Given the description of an element on the screen output the (x, y) to click on. 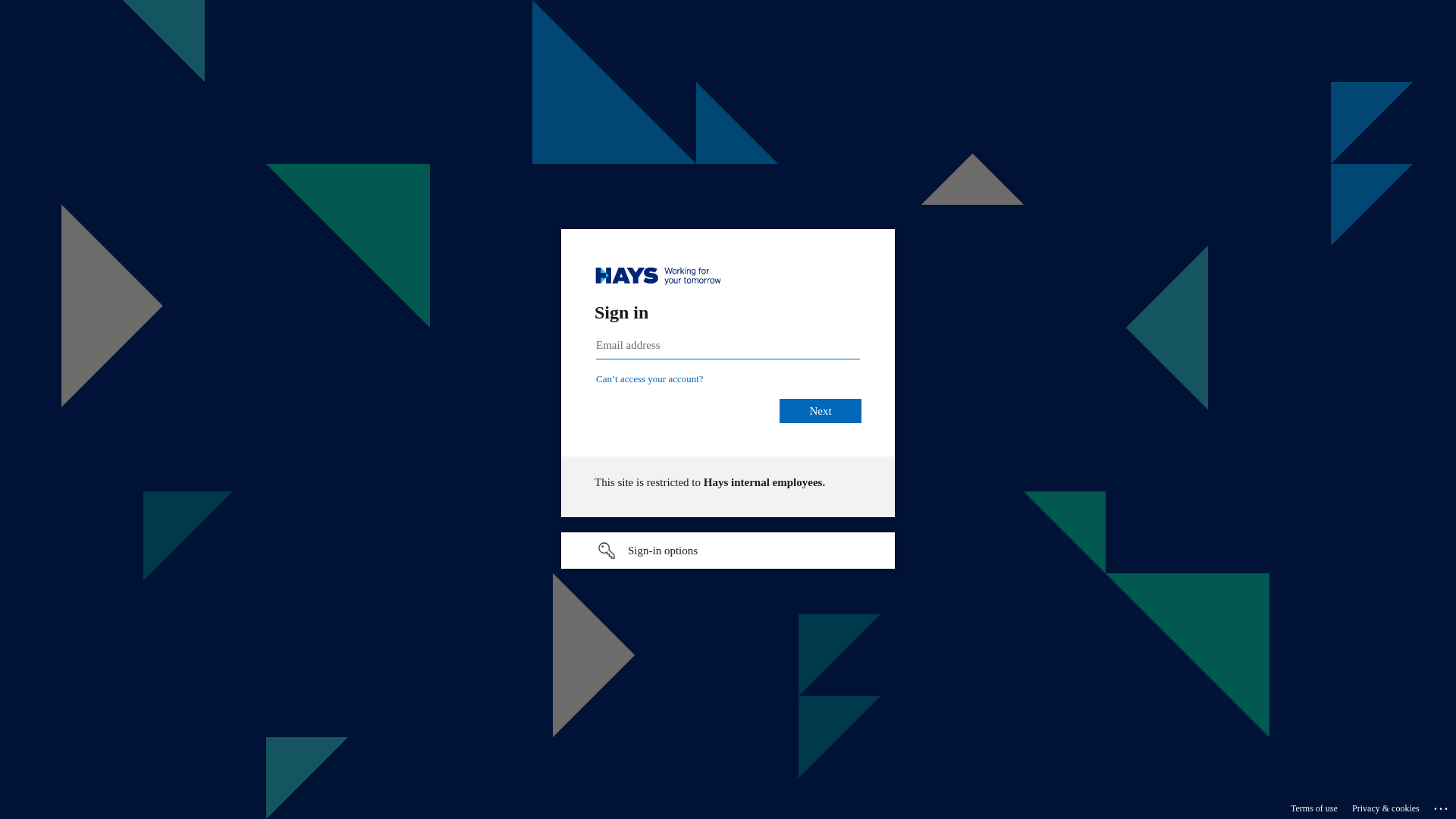
... Element type: text (1441, 805)
Next Element type: text (820, 410)
